Given the description of an element on the screen output the (x, y) to click on. 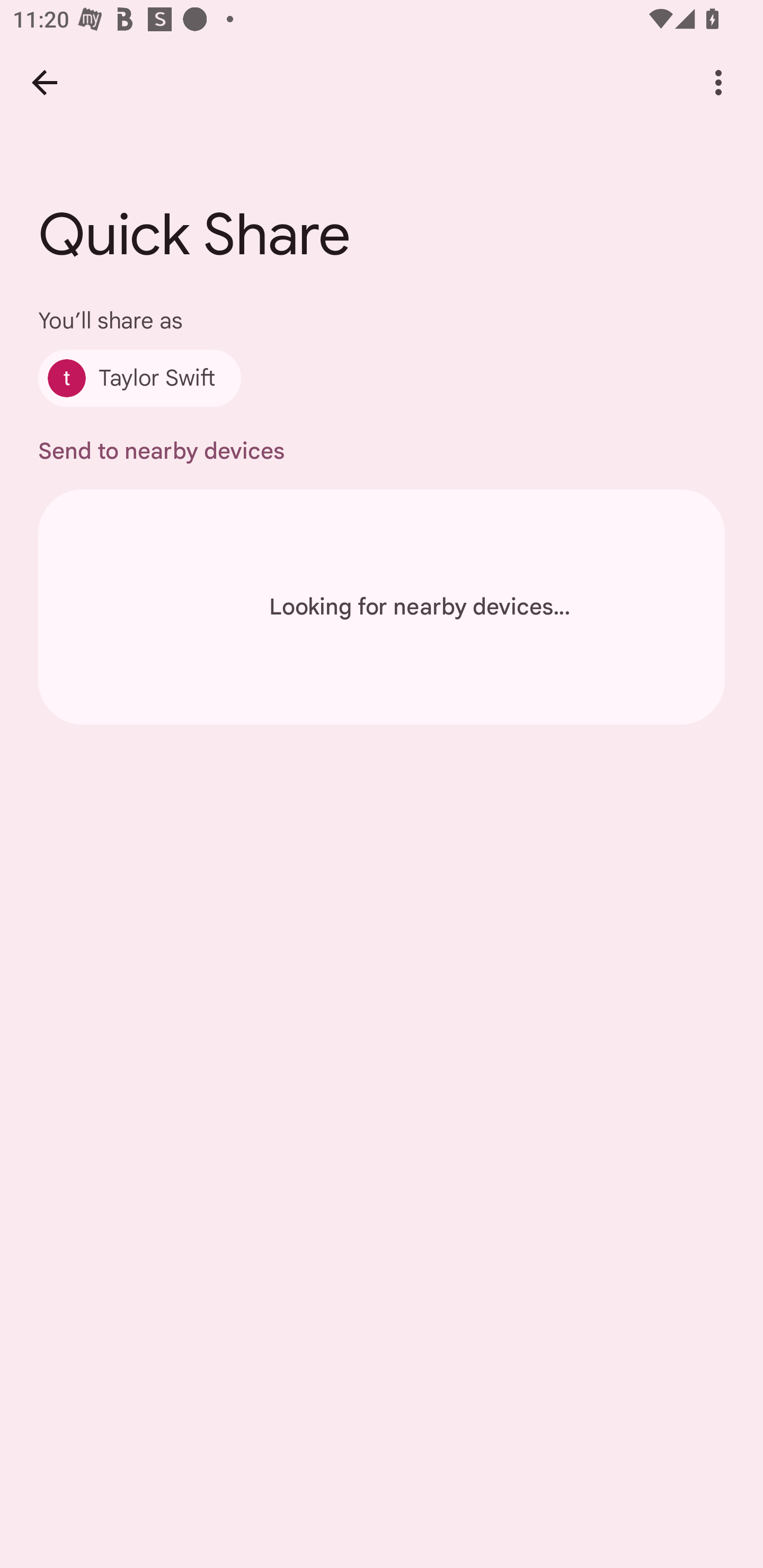
Back (44, 81)
More (718, 81)
Taylor Swift (139, 378)
